Given the description of an element on the screen output the (x, y) to click on. 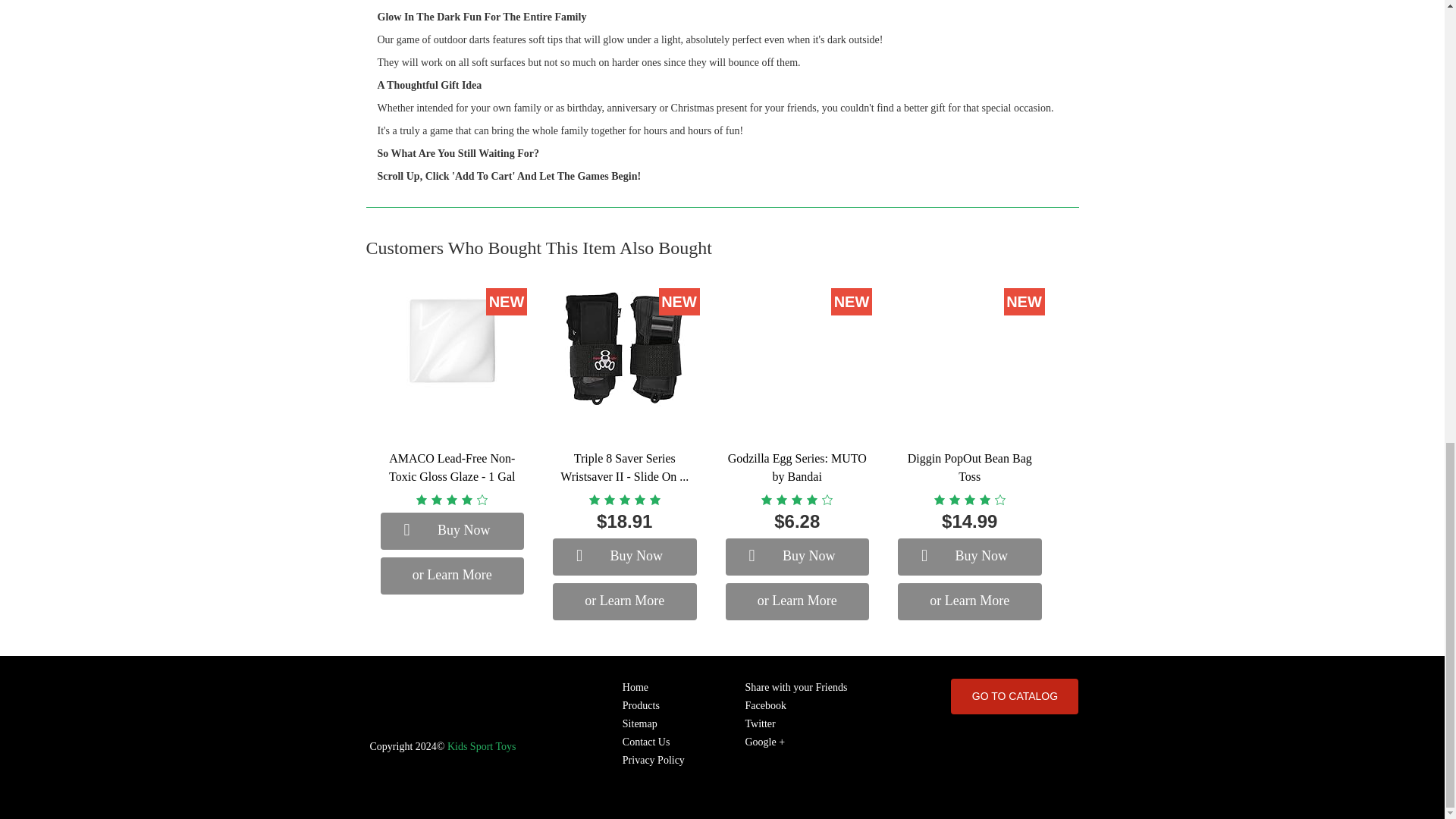
Kids Sport Toys (481, 746)
Godzilla Egg Series: MUTO by Bandai (797, 467)
Buy Now (970, 556)
Sitemap (653, 723)
Buy Now (625, 556)
Triple 8 Saver Series Wristsaver II - Slide On ... (625, 467)
Buy Now (797, 556)
or Learn More (452, 575)
or Learn More (625, 601)
or Learn More (970, 601)
